Given the description of an element on the screen output the (x, y) to click on. 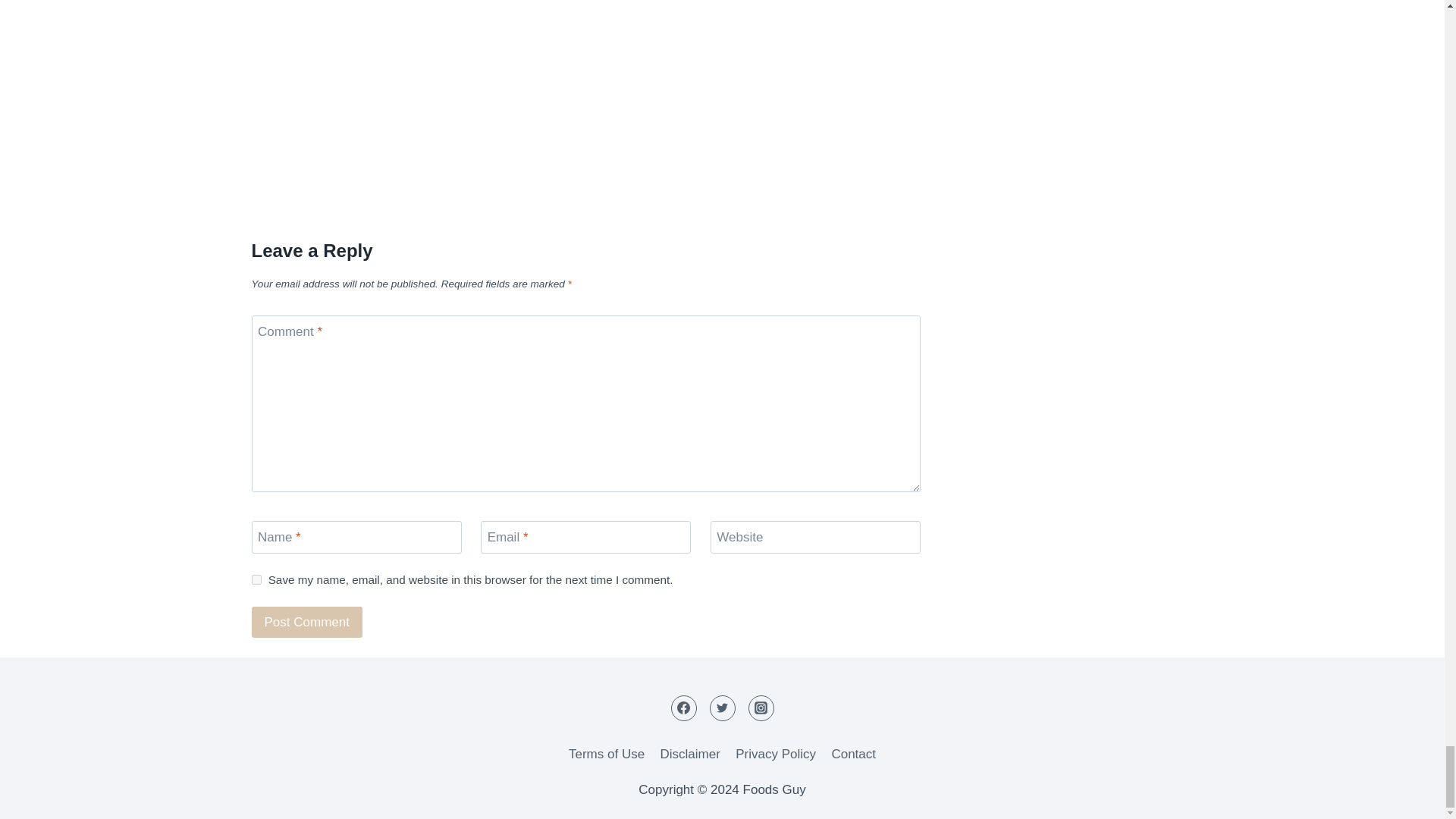
Post Comment (306, 622)
yes (256, 579)
